Given the description of an element on the screen output the (x, y) to click on. 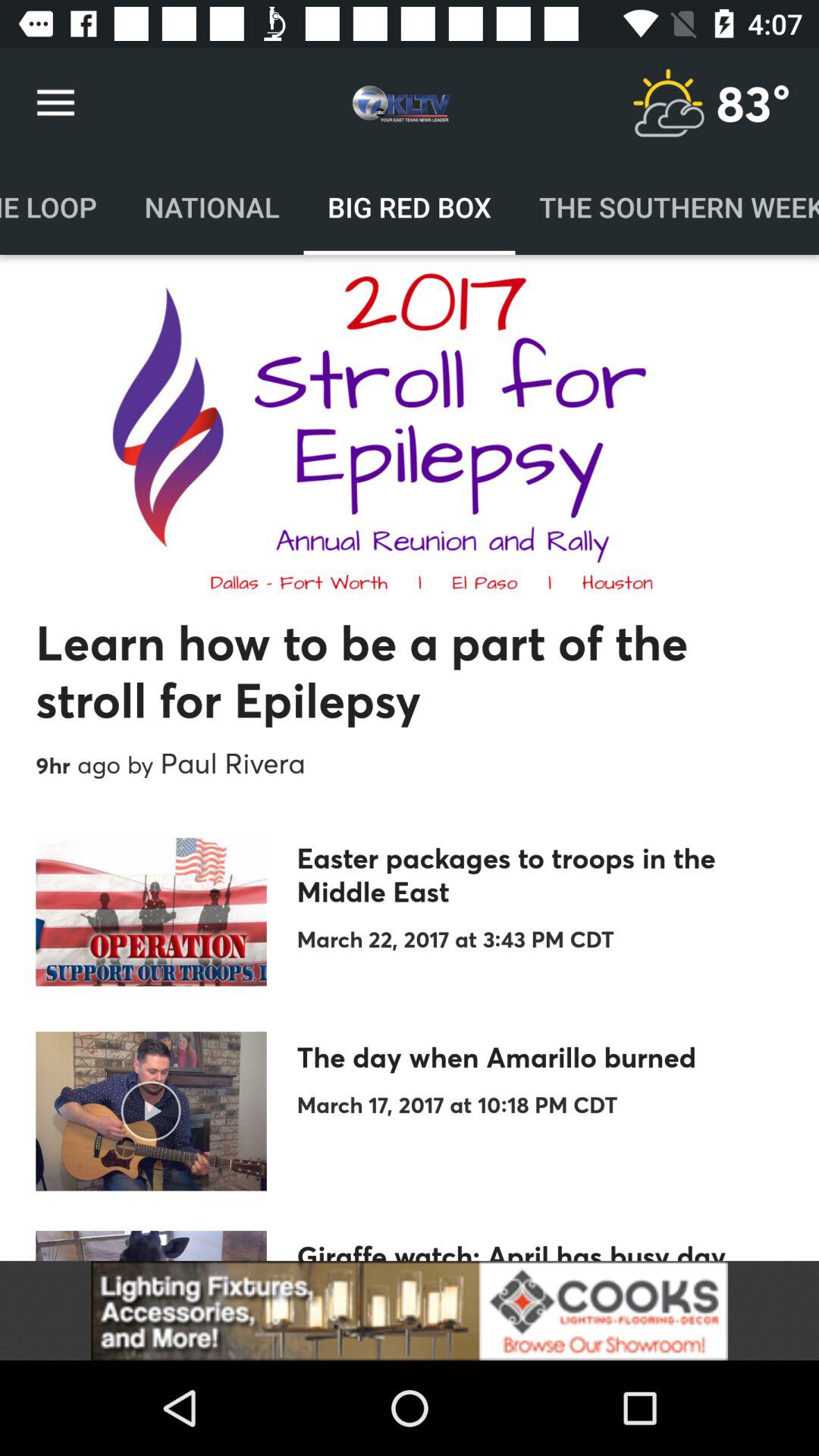
cooks advertisement (409, 1310)
